Given the description of an element on the screen output the (x, y) to click on. 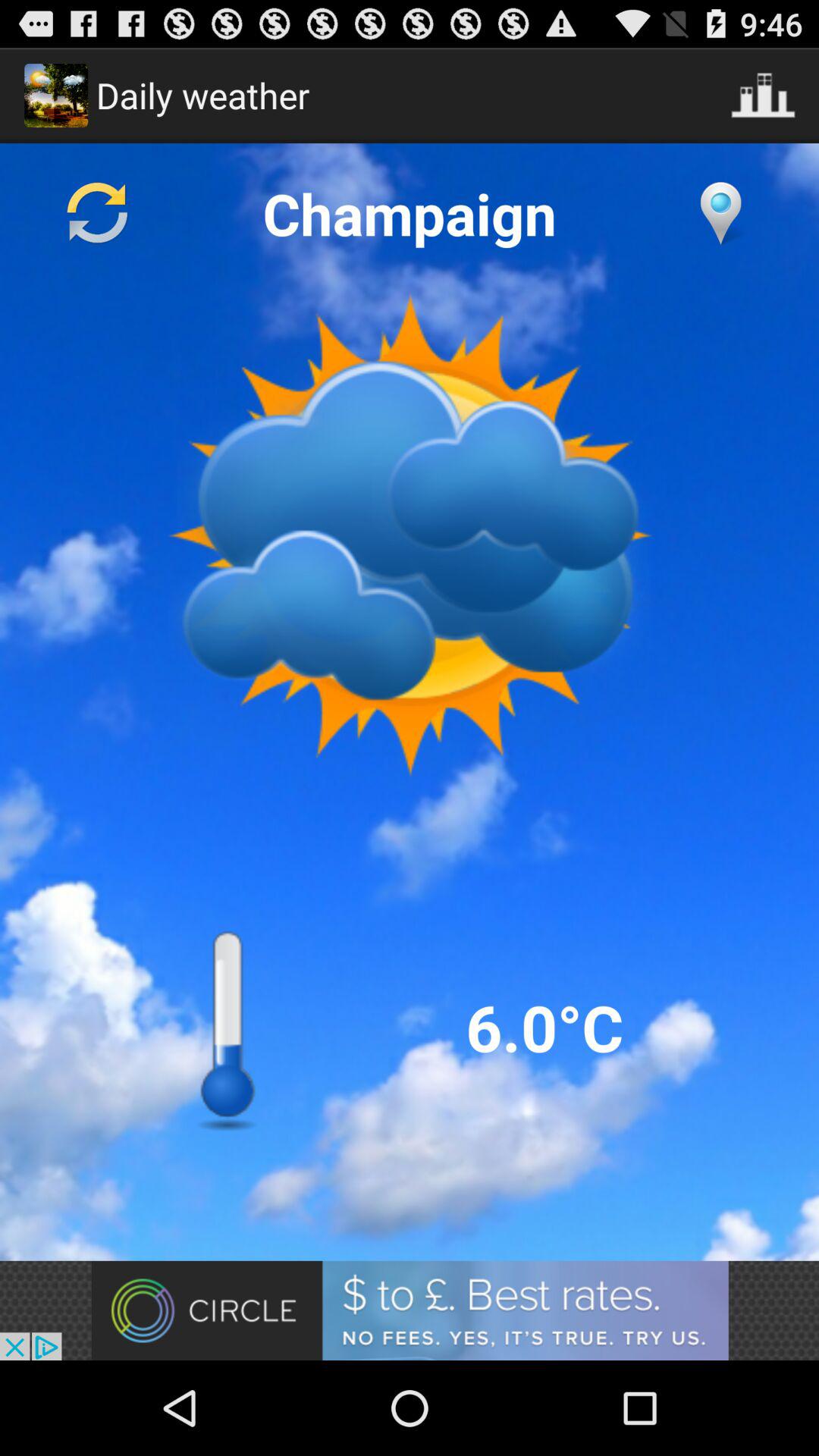
toggle the advertisement option (409, 1310)
